Given the description of an element on the screen output the (x, y) to click on. 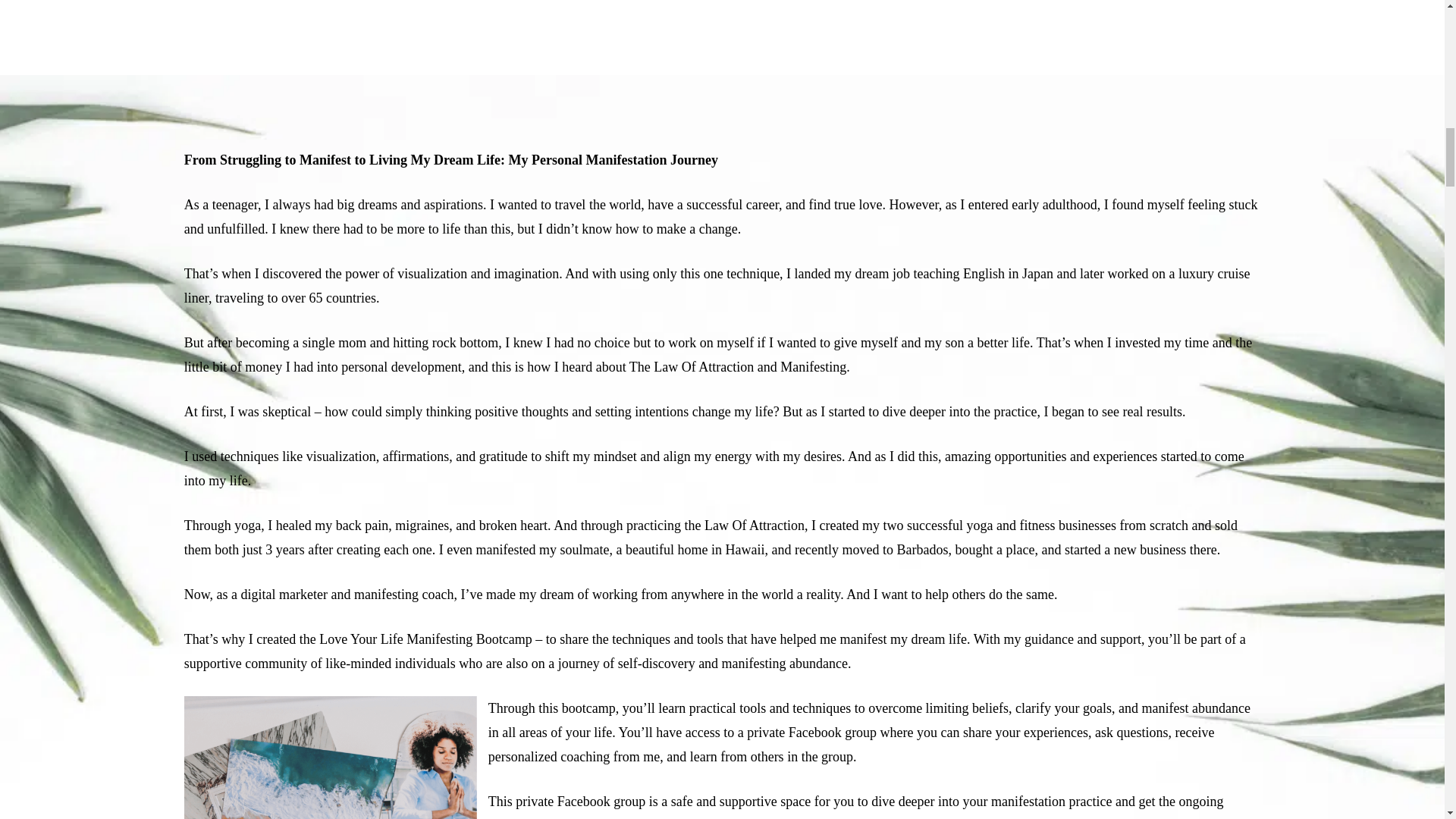
5 - Love Nash (330, 757)
